Given the description of an element on the screen output the (x, y) to click on. 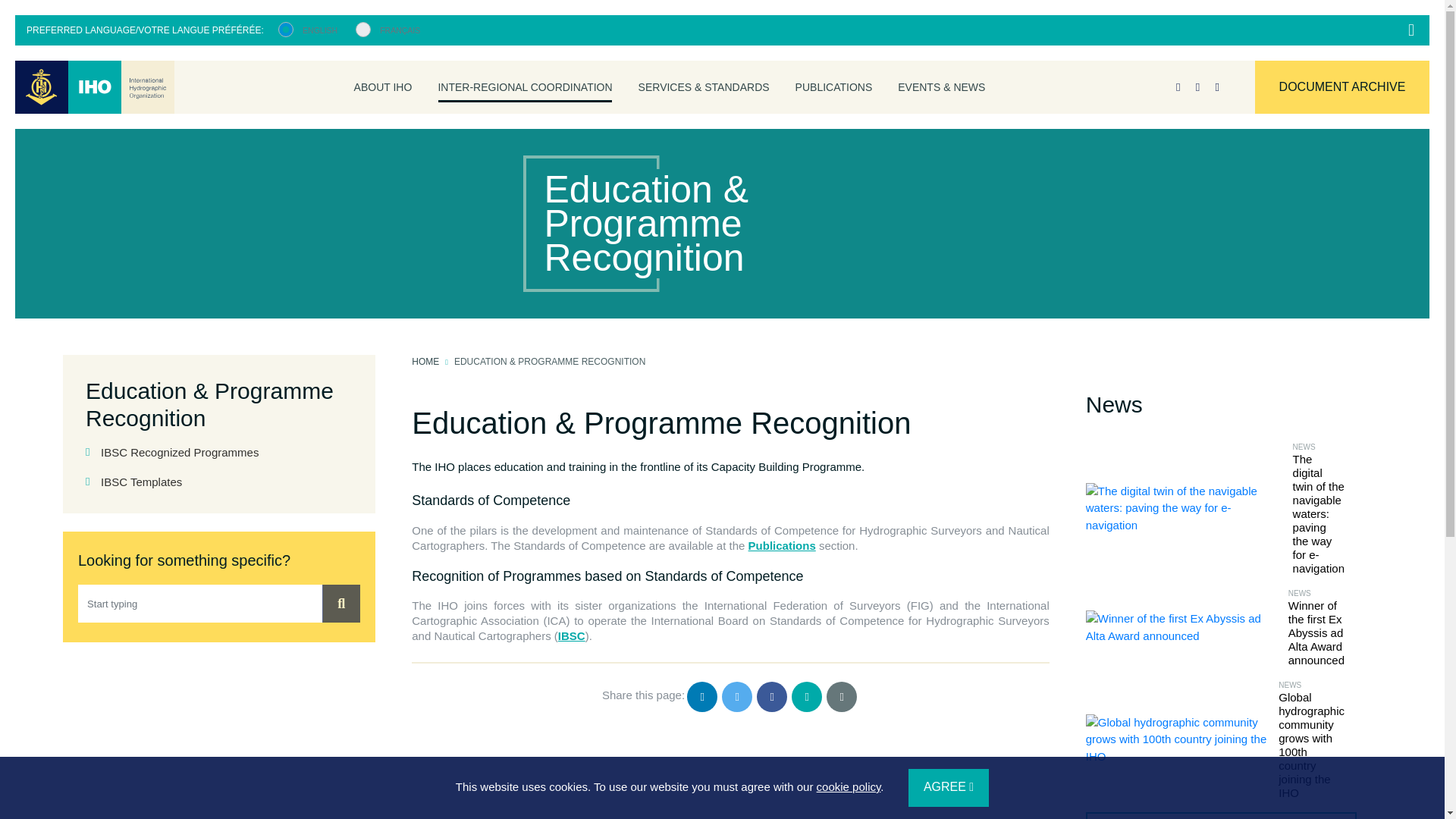
ABOUT IHO (383, 87)
PUBLICATIONS (833, 87)
INTER-REGIONAL COORDINATION (524, 87)
